Given the description of an element on the screen output the (x, y) to click on. 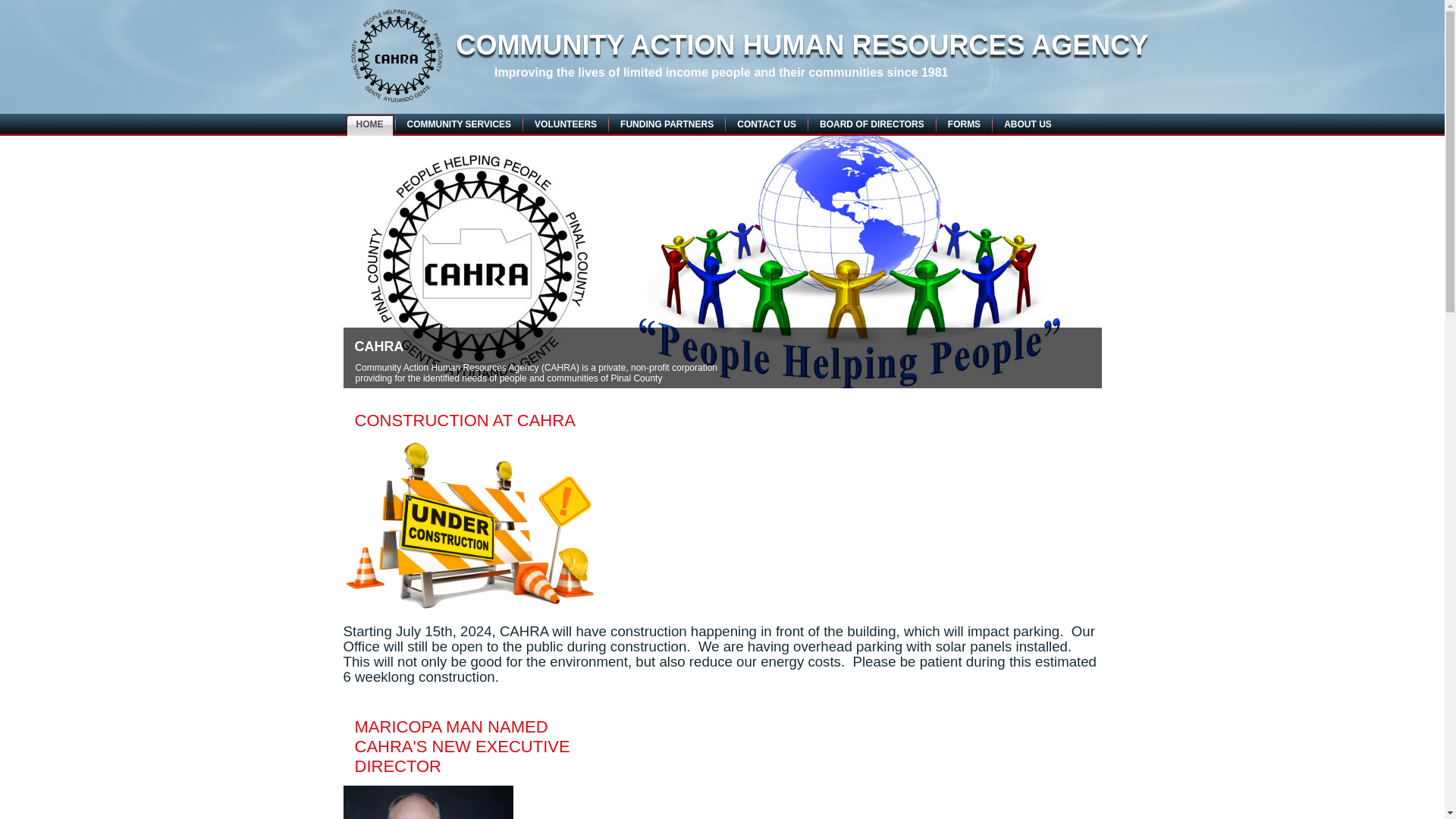
VOLUNTEERS (565, 124)
CONSTRUCTION AT CAHRA (465, 420)
CONTACT US (766, 124)
ABOUT US (1027, 124)
BOARD OF DIRECTORS (871, 124)
FORMS (963, 124)
FUNDING PARTNERS (666, 124)
HOME (369, 125)
COMMUNITY ACTION HUMAN RESOURCES AGENCY (802, 44)
MARICOPA MAN NAMED CAHRA'S NEW EXECUTIVE DIRECTOR (462, 746)
COMMUNITY SERVICES (459, 124)
